Given the description of an element on the screen output the (x, y) to click on. 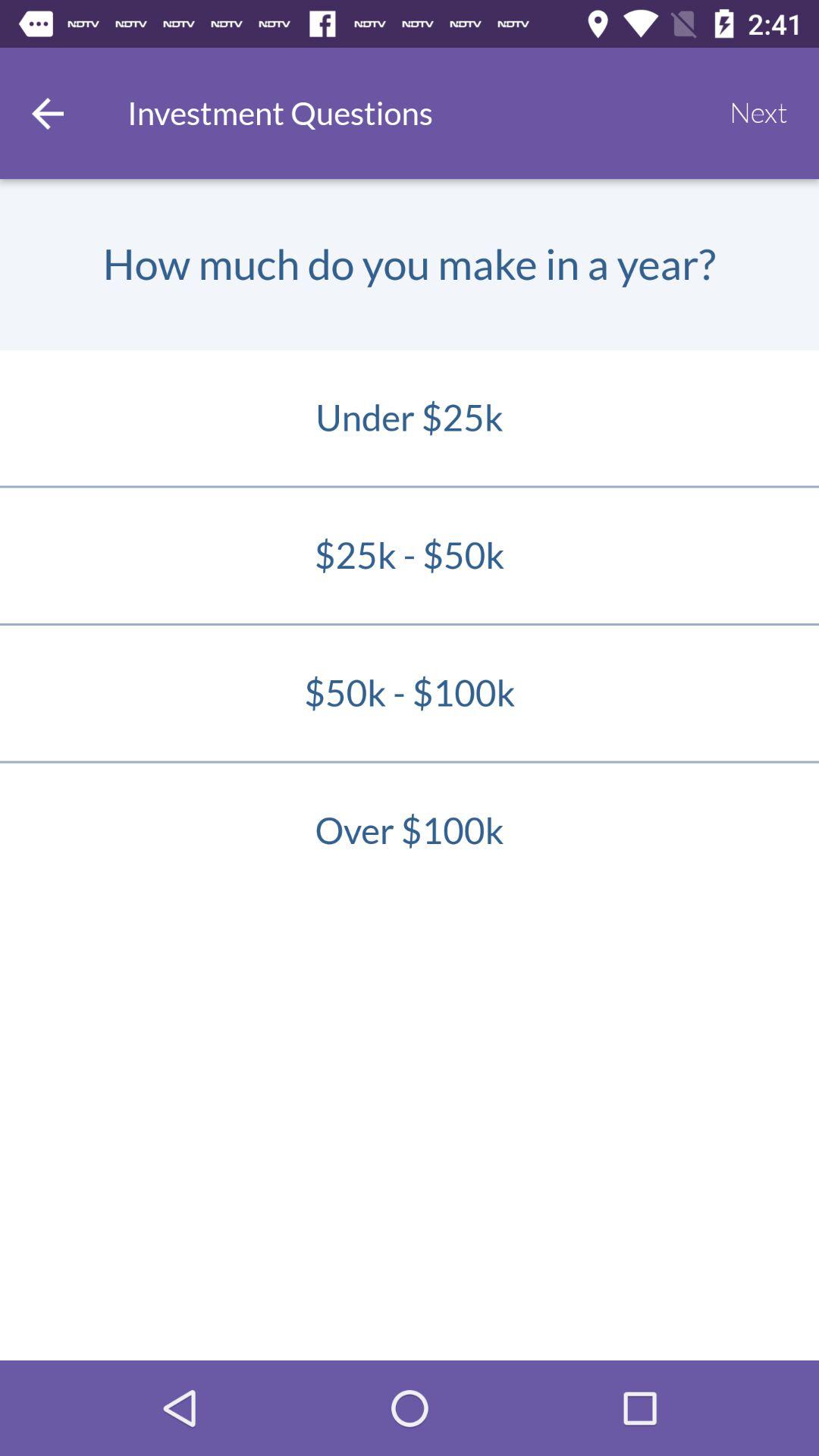
tap the item at the top left corner (47, 113)
